Given the description of an element on the screen output the (x, y) to click on. 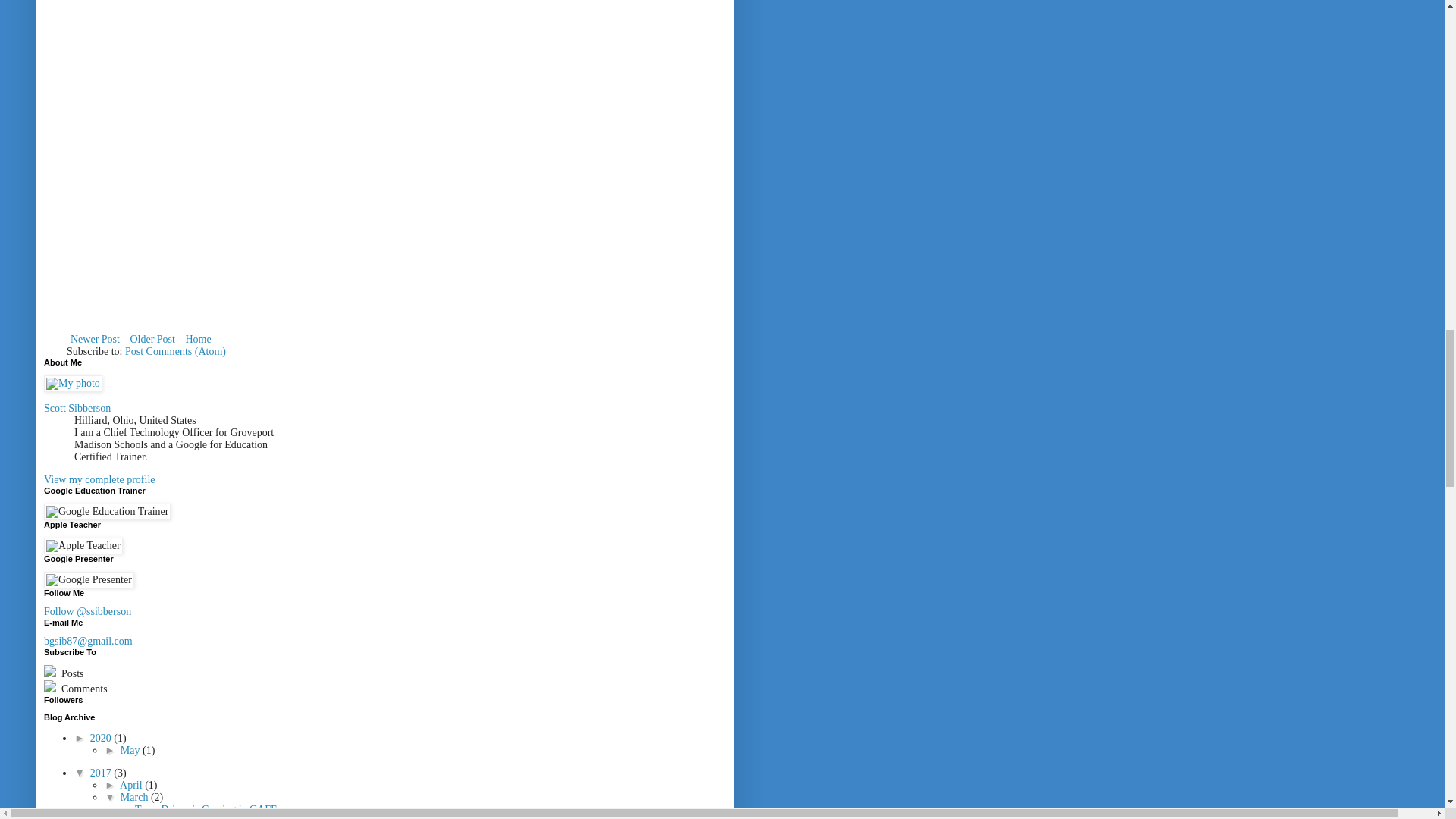
Older Post (152, 339)
Newer Post (94, 339)
View my complete profile (99, 479)
Scott Sibberson (76, 408)
Newer Post (94, 339)
Home (197, 339)
Older Post (152, 339)
